Given the description of an element on the screen output the (x, y) to click on. 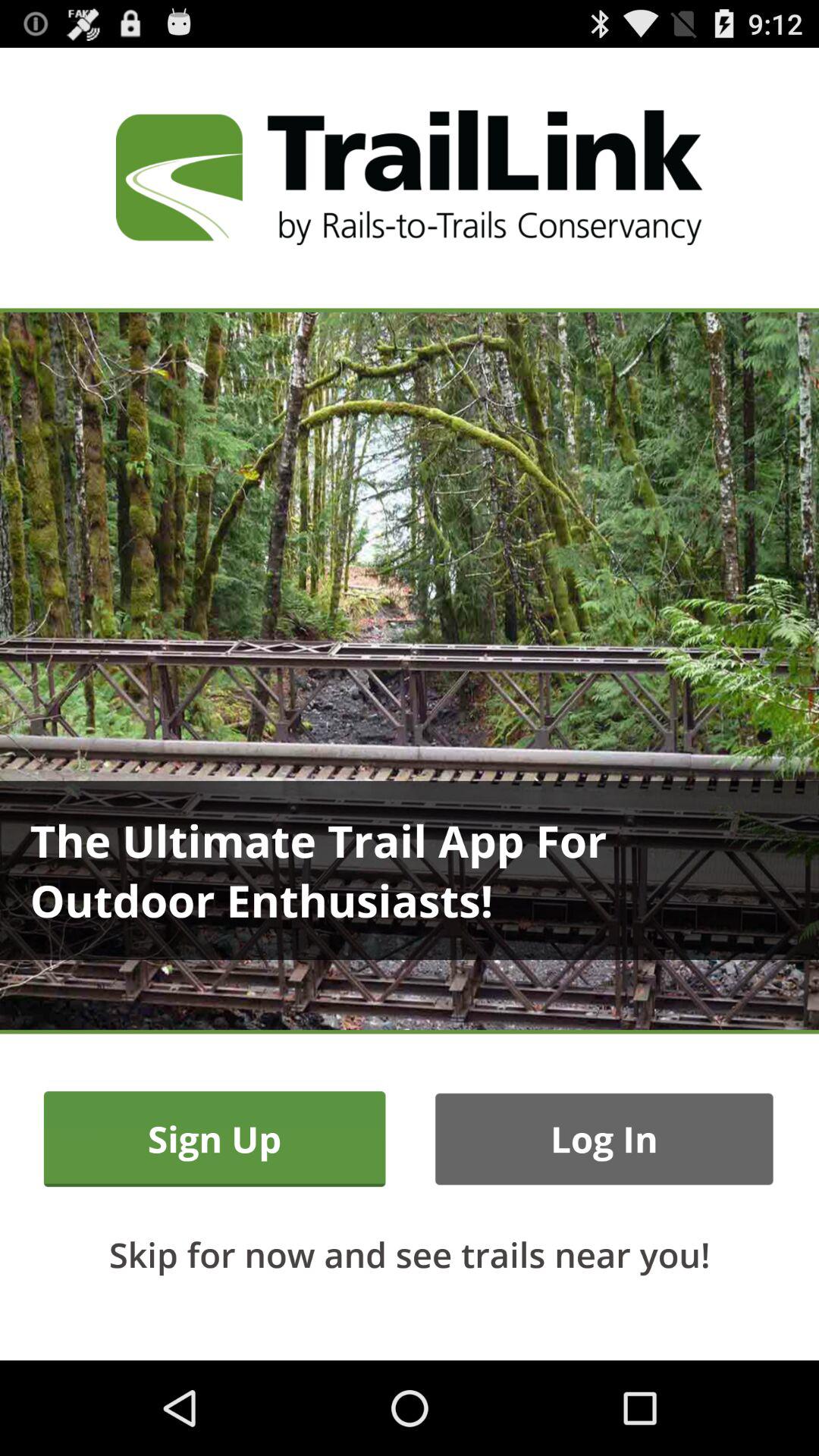
turn off the sign up at the bottom left corner (214, 1138)
